Given the description of an element on the screen output the (x, y) to click on. 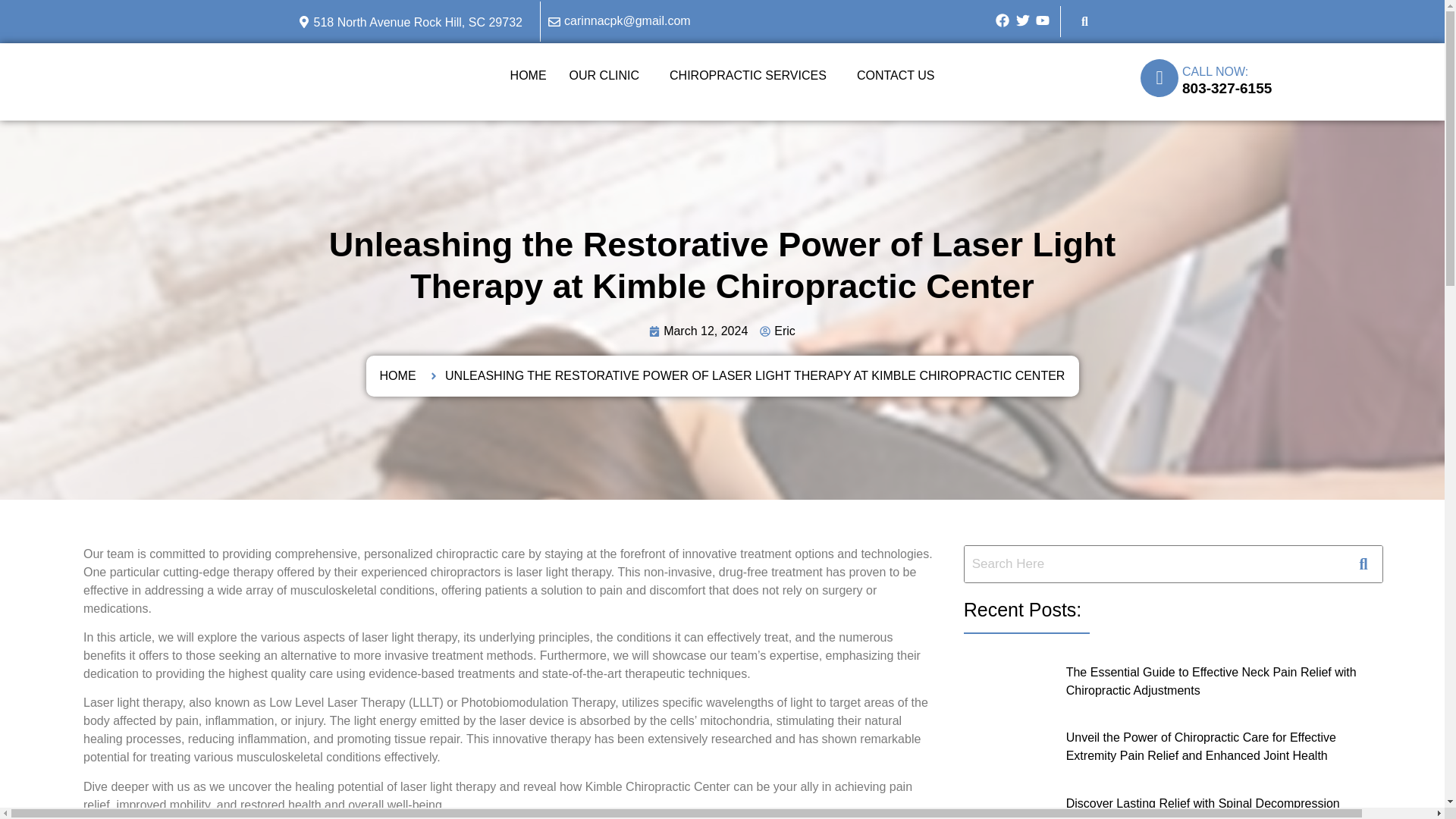
CALL NOW: (1214, 71)
OUR CLINIC (607, 75)
Eric (777, 330)
Search (1153, 564)
HOME (528, 75)
CHIROPRACTIC SERVICES (751, 75)
